Given the description of an element on the screen output the (x, y) to click on. 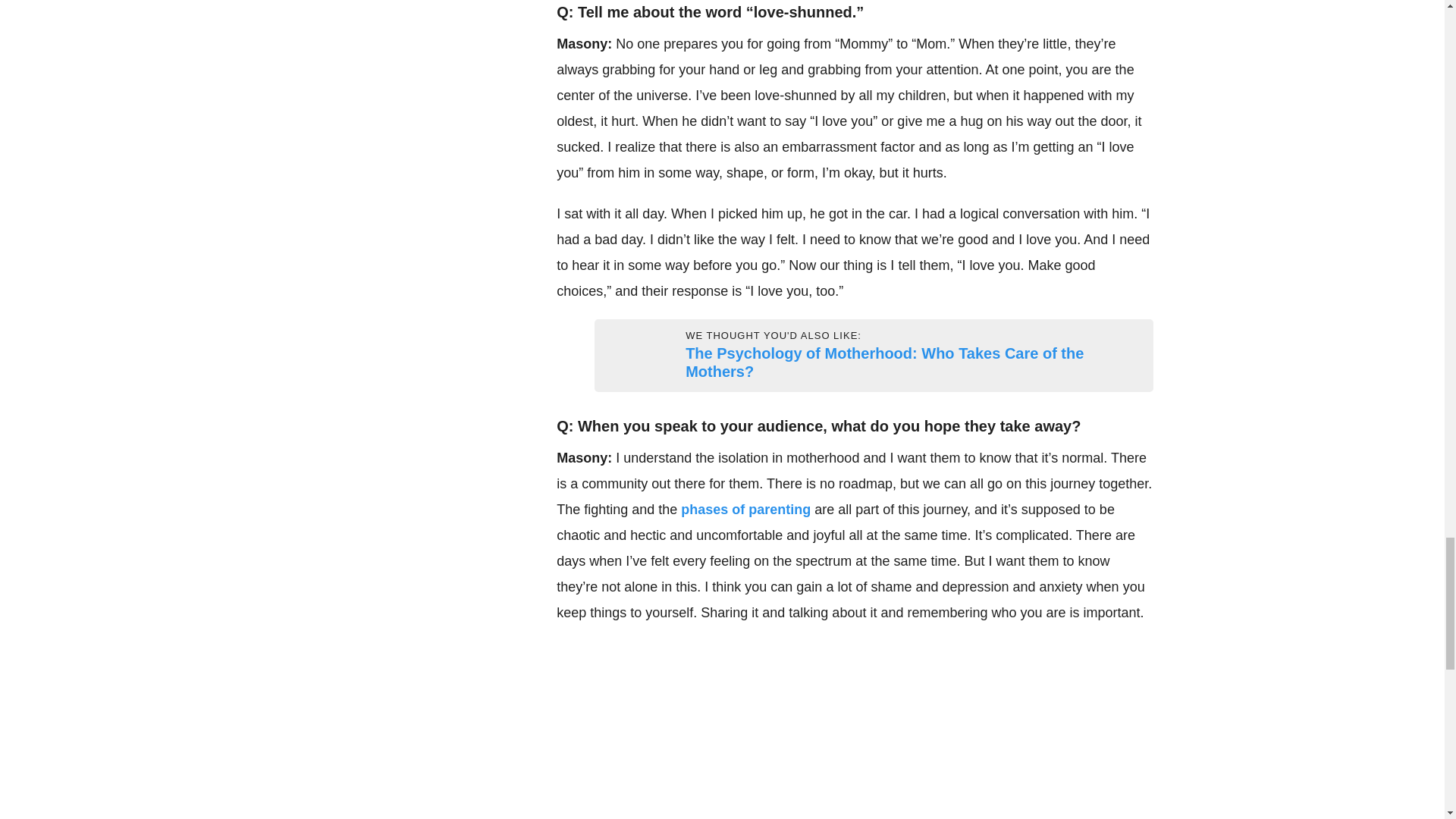
motherhood Friendship (612, 356)
